Given the description of an element on the screen output the (x, y) to click on. 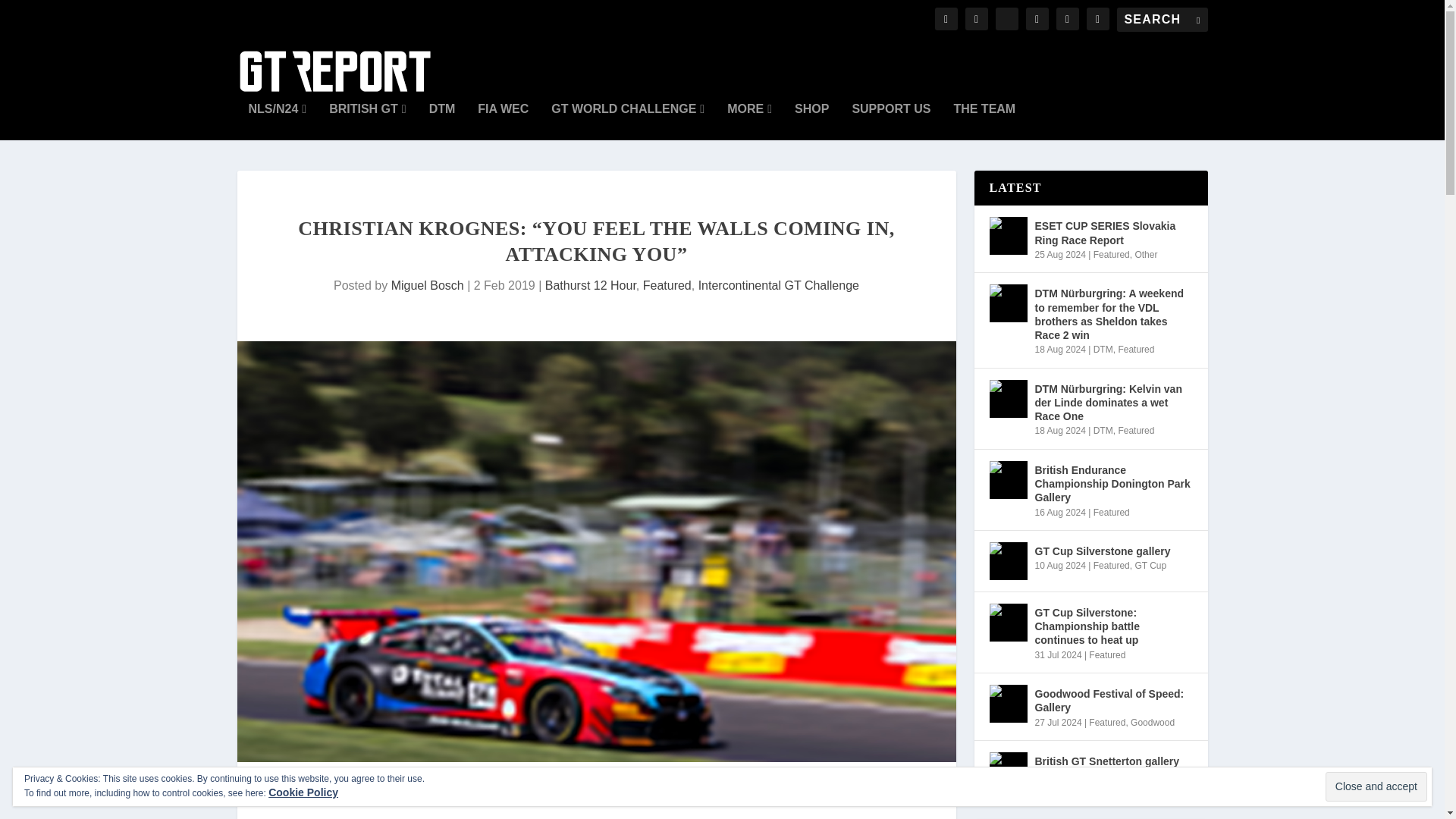
GT WORLD CHALLENGE (627, 121)
Posts by Miguel Bosch (427, 285)
SUPPORT US (890, 121)
SHOP (811, 121)
MORE (748, 121)
FIA WEC (502, 121)
ESET CUP SERIES Slovakia Ring Race Report (1007, 235)
BRITISH GT (367, 121)
Search for: (1161, 19)
Close and accept (1375, 786)
